Given the description of an element on the screen output the (x, y) to click on. 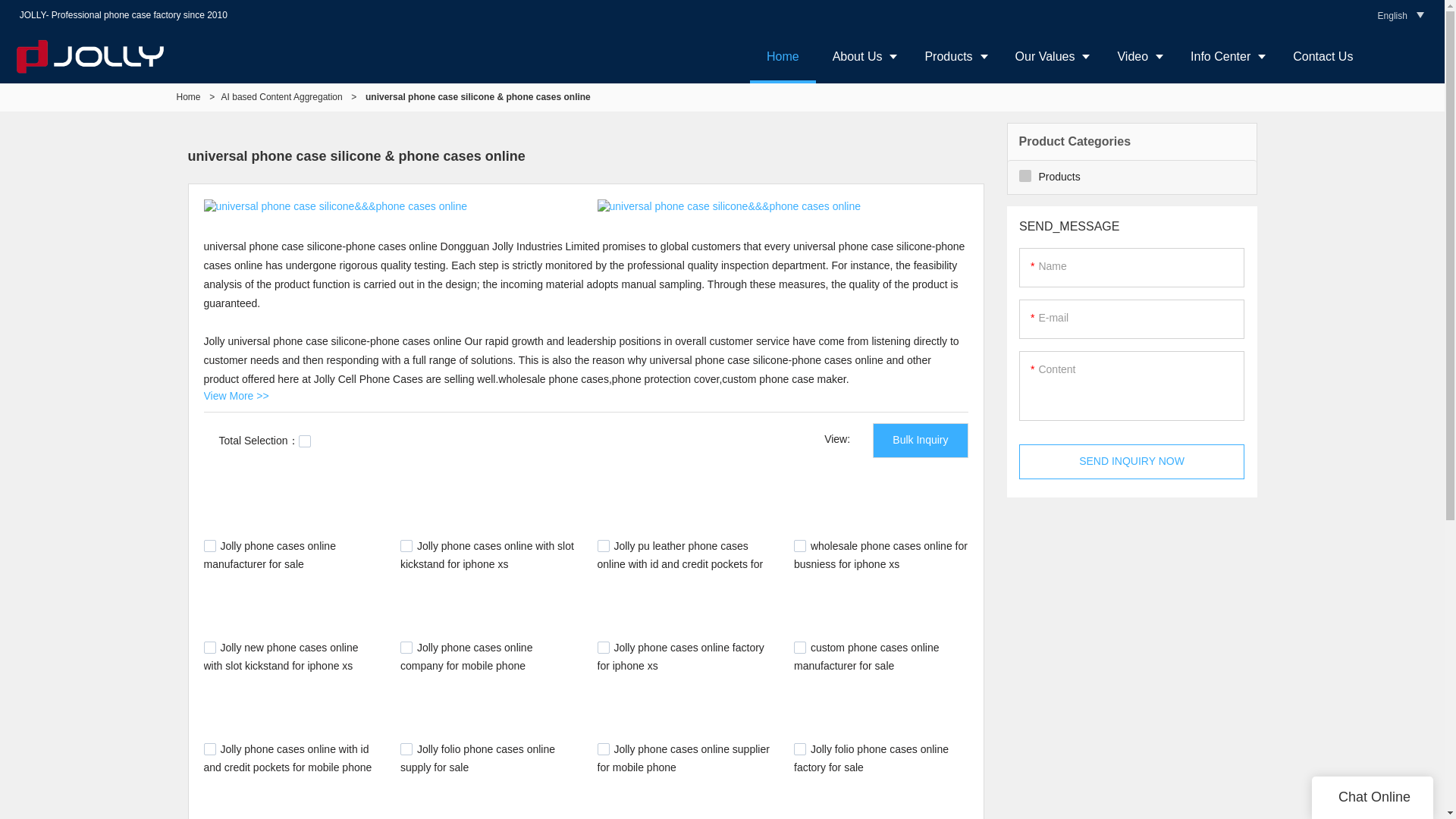
5047 (406, 545)
4278 (799, 545)
custom phone cases online manufacturer for sale (866, 656)
4942 (603, 545)
Jolly phone cases online manufacturer for sale (268, 554)
3953 (209, 748)
Products (952, 56)
Jolly phone cases online company for mobile phone (466, 656)
